Given the description of an element on the screen output the (x, y) to click on. 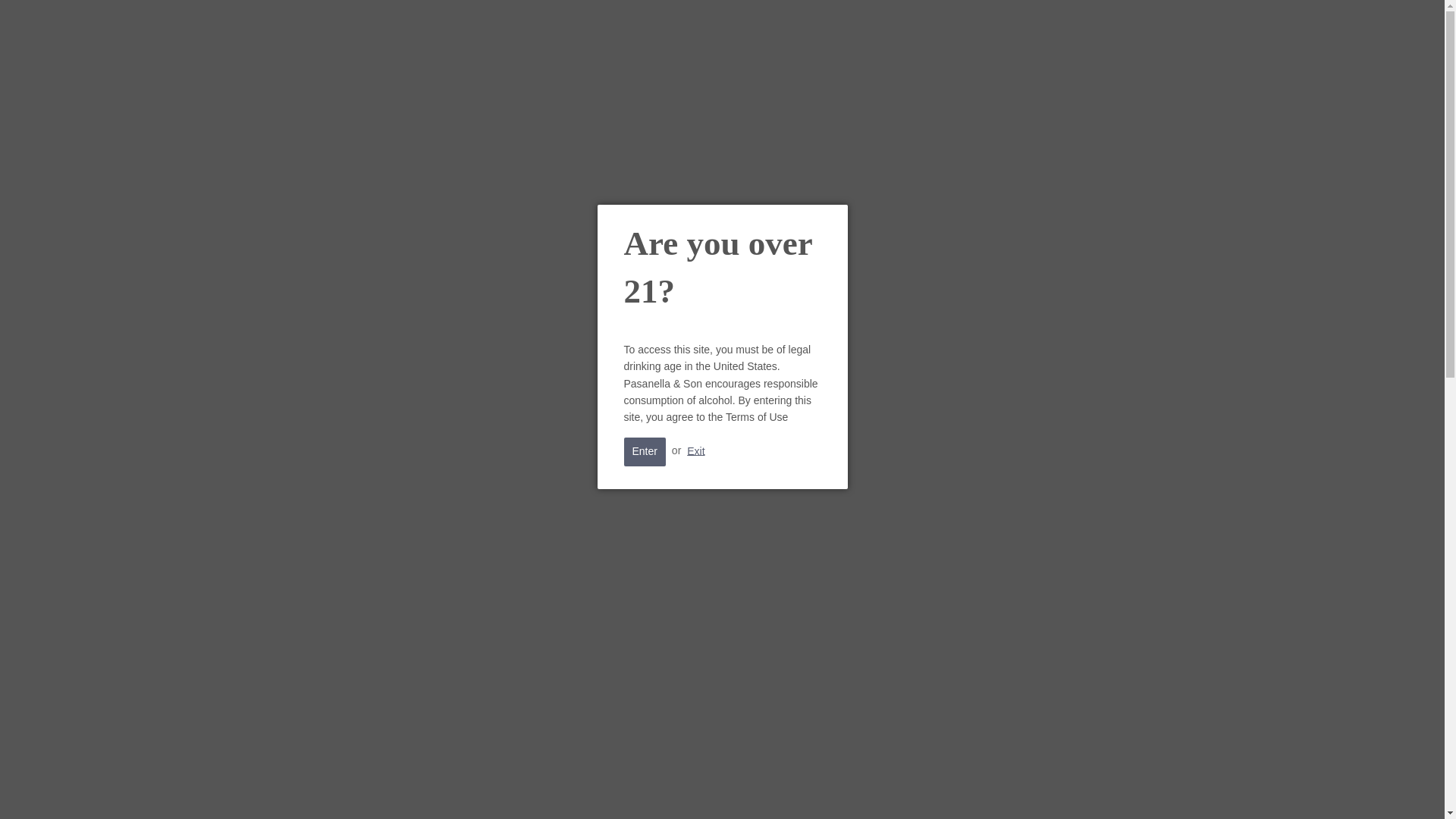
Home (314, 190)
0 (1126, 64)
VINO CLUB (684, 127)
ABOUT US (883, 127)
GIFT CARDS (603, 127)
Exit (695, 450)
FREE IN-STORE TASTINGS EVERY THURSDAY 5:30-7:30PM (722, 10)
My Account (1061, 59)
Enter (644, 451)
CONTACT US (963, 127)
